Given the description of an element on the screen output the (x, y) to click on. 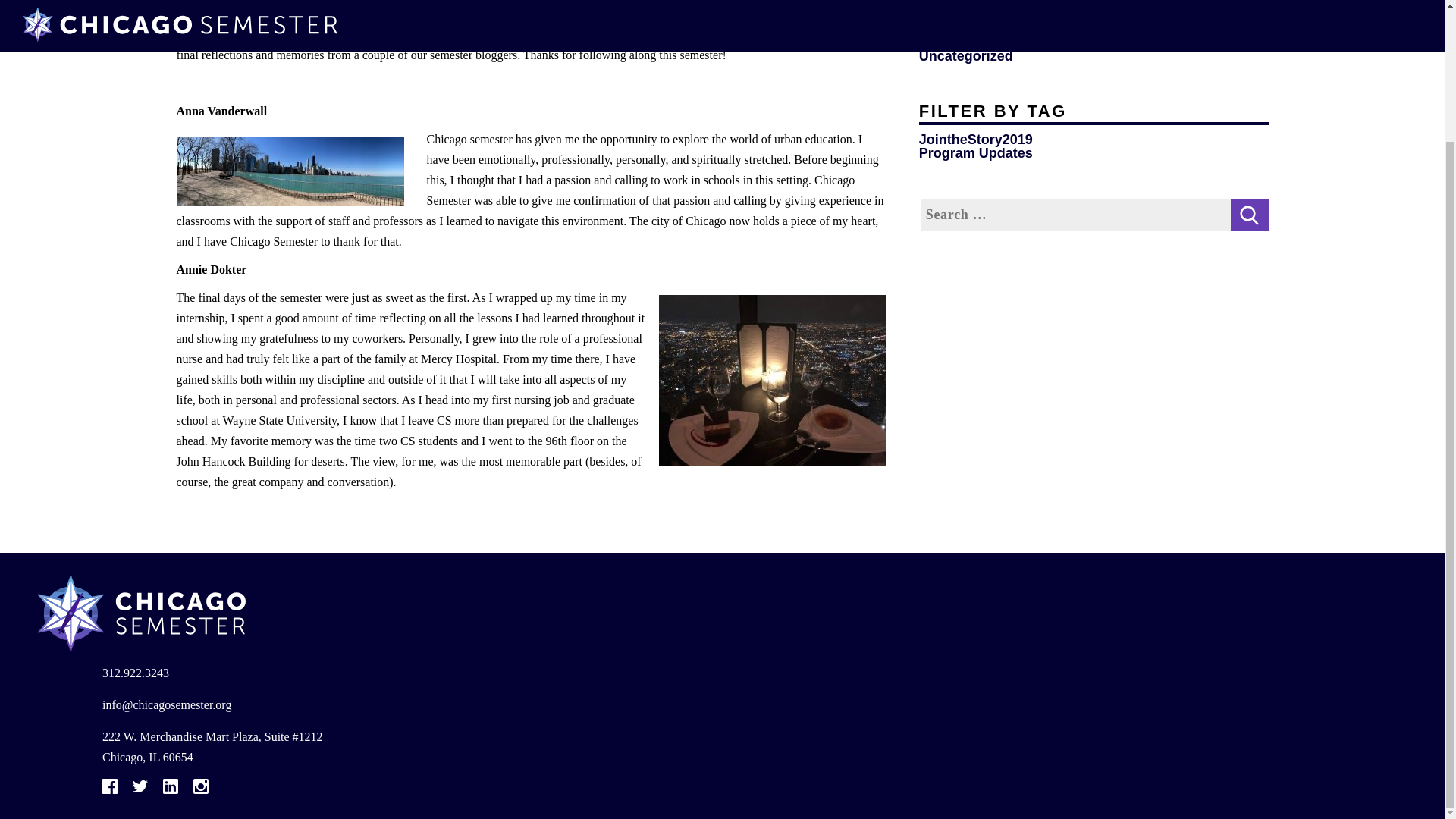
Summer Student Blogs (994, 42)
Search (1249, 214)
Nursing Student Blogs (992, 4)
JointheStory2019 (975, 139)
Student Teacher Blogs (992, 28)
Search (1249, 214)
Search (1249, 214)
Uncategorized (965, 55)
Social Work Student Blogs (1005, 14)
Program Updates (975, 152)
